Given the description of an element on the screen output the (x, y) to click on. 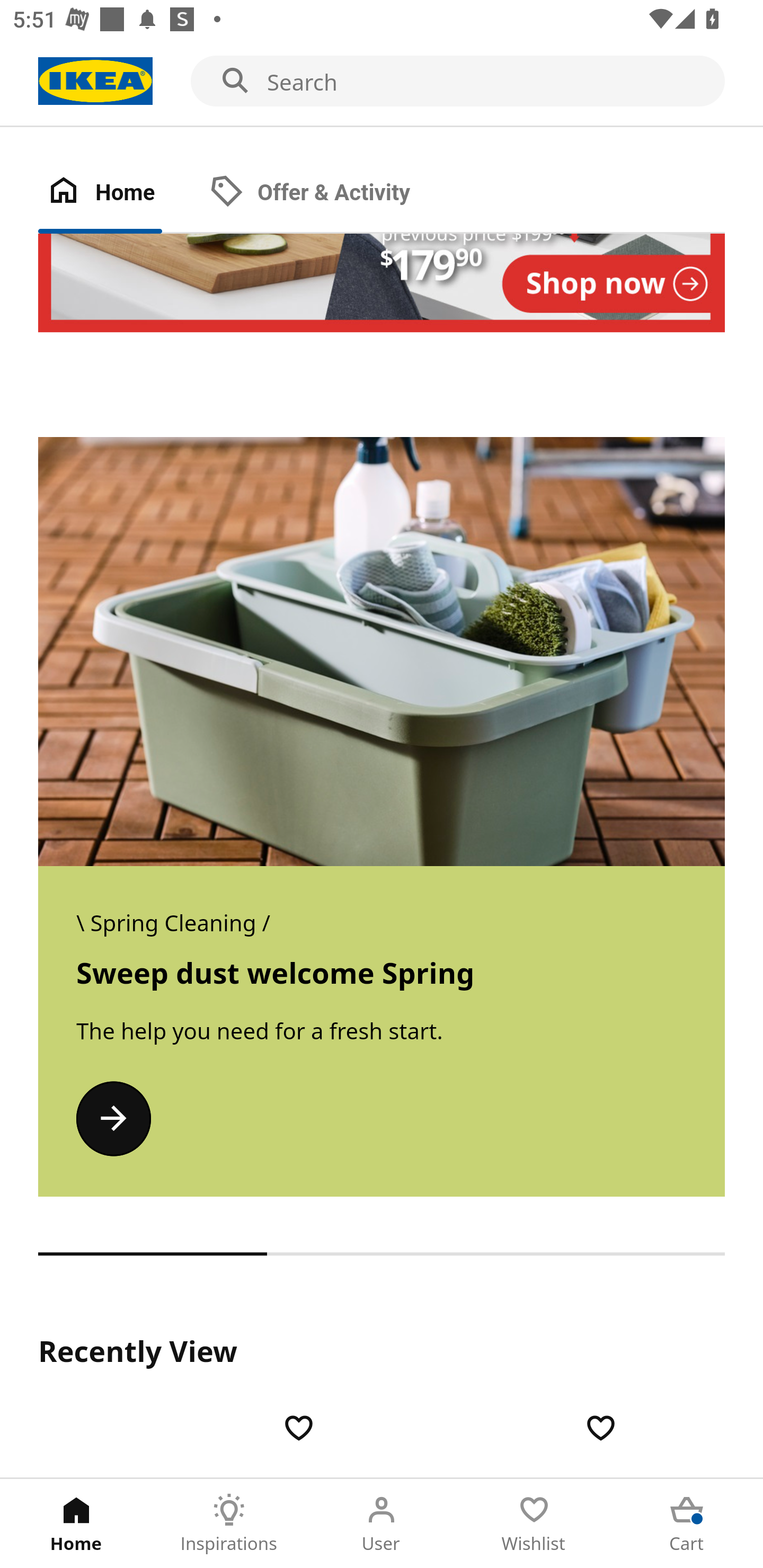
Search (381, 81)
Home
Tab 1 of 2 (118, 192)
Offer & Activity
Tab 2 of 2 (327, 192)
Home
Tab 1 of 5 (76, 1522)
Inspirations
Tab 2 of 5 (228, 1522)
User
Tab 3 of 5 (381, 1522)
Wishlist
Tab 4 of 5 (533, 1522)
Cart
Tab 5 of 5 (686, 1522)
